Given the description of an element on the screen output the (x, y) to click on. 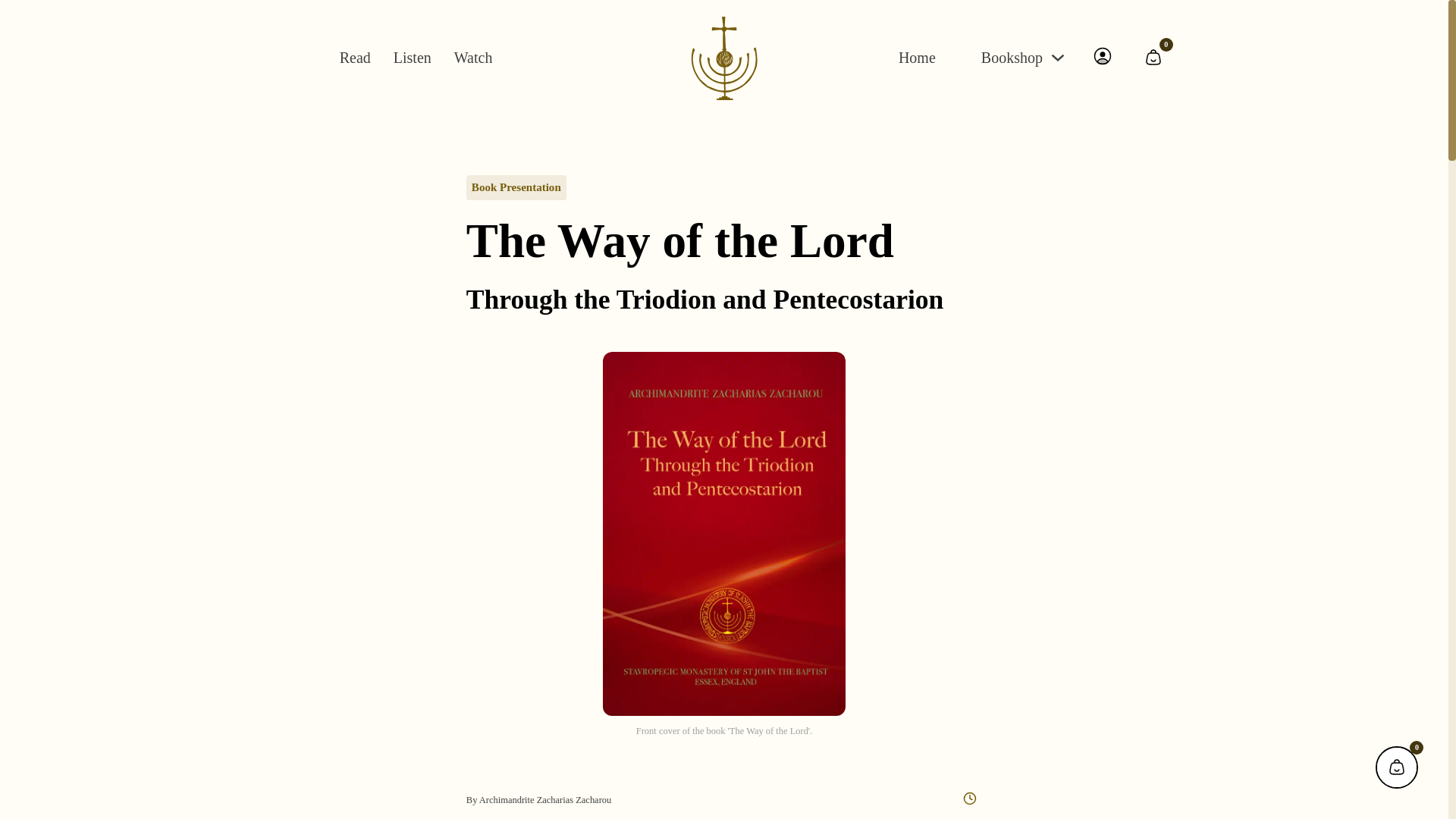
0 (1152, 57)
Watch (473, 57)
Read (355, 57)
Listen (411, 57)
Bookshop (1011, 57)
Book Presentation (515, 186)
Home (917, 57)
